Given the description of an element on the screen output the (x, y) to click on. 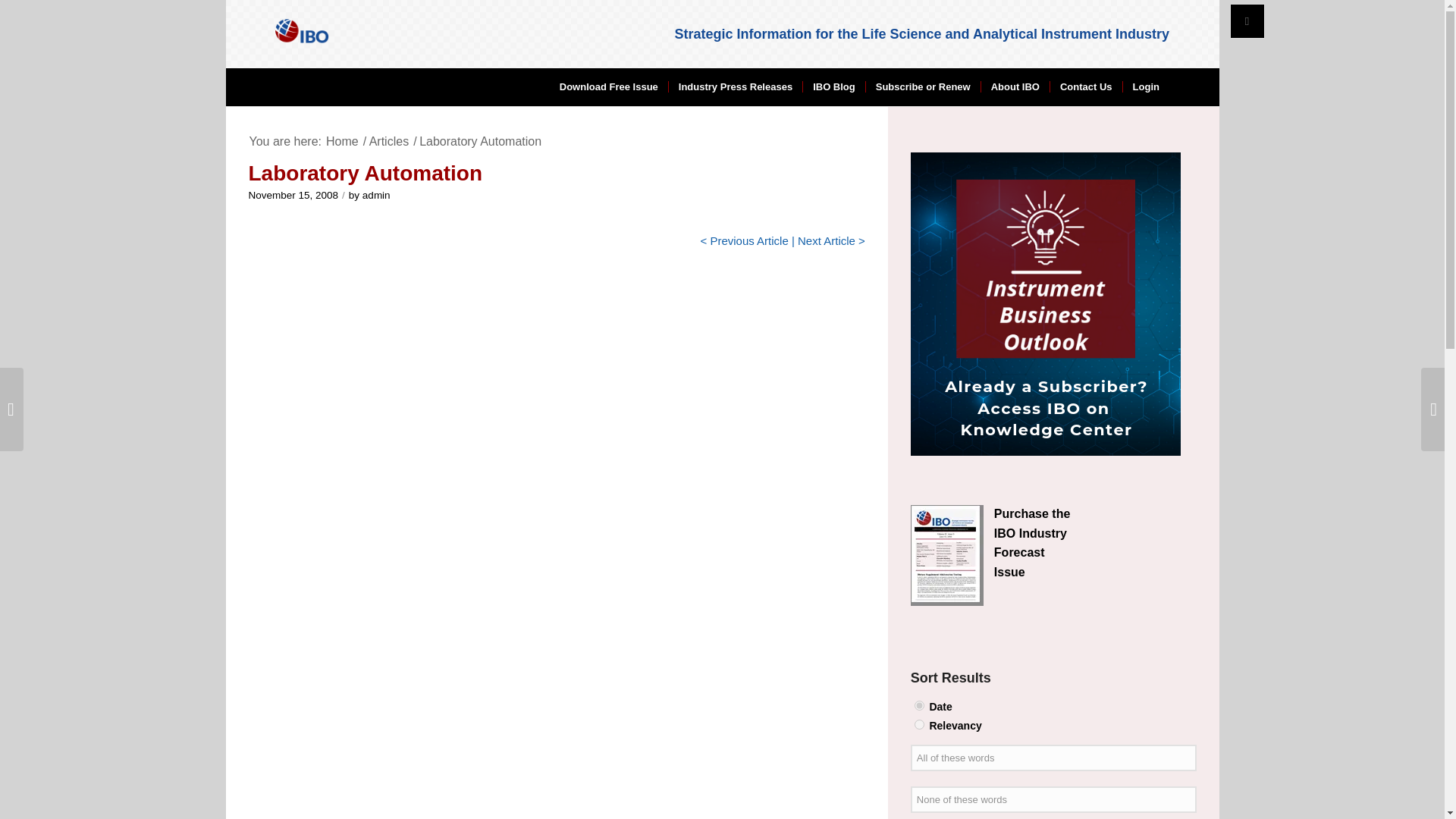
Articles (388, 141)
Industry Press Releases (735, 86)
Subscribe or Renew (921, 86)
date (919, 705)
IBO (342, 141)
Home (342, 141)
Previous Article (748, 240)
date (919, 705)
admin (376, 194)
IBO Blog (833, 86)
Next Article (826, 240)
Posts by admin (376, 194)
relevancy (919, 724)
relevancy (919, 724)
Articles (388, 141)
